Given the description of an element on the screen output the (x, y) to click on. 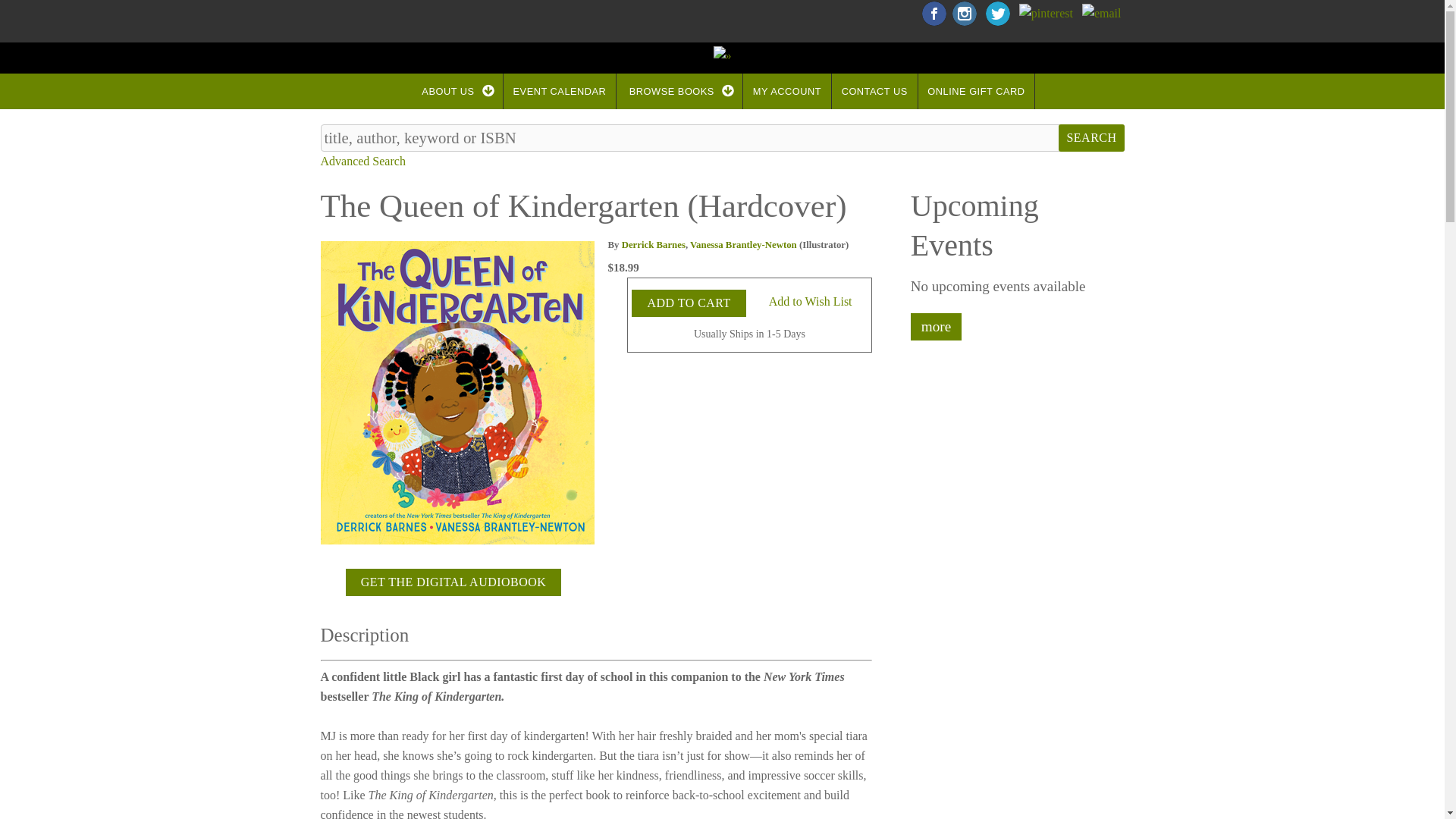
Advanced Search (362, 160)
Online Gift Card (976, 90)
Get the Digital Audiobook (454, 582)
Add to Cart (688, 302)
CONTACT US (874, 90)
Enter the terms you wish to search for. (722, 137)
BROWSE BOOKS (678, 90)
Search (1091, 137)
ONLINE GIFT CARD (976, 90)
Derrick Barnes (653, 244)
